Given the description of an element on the screen output the (x, y) to click on. 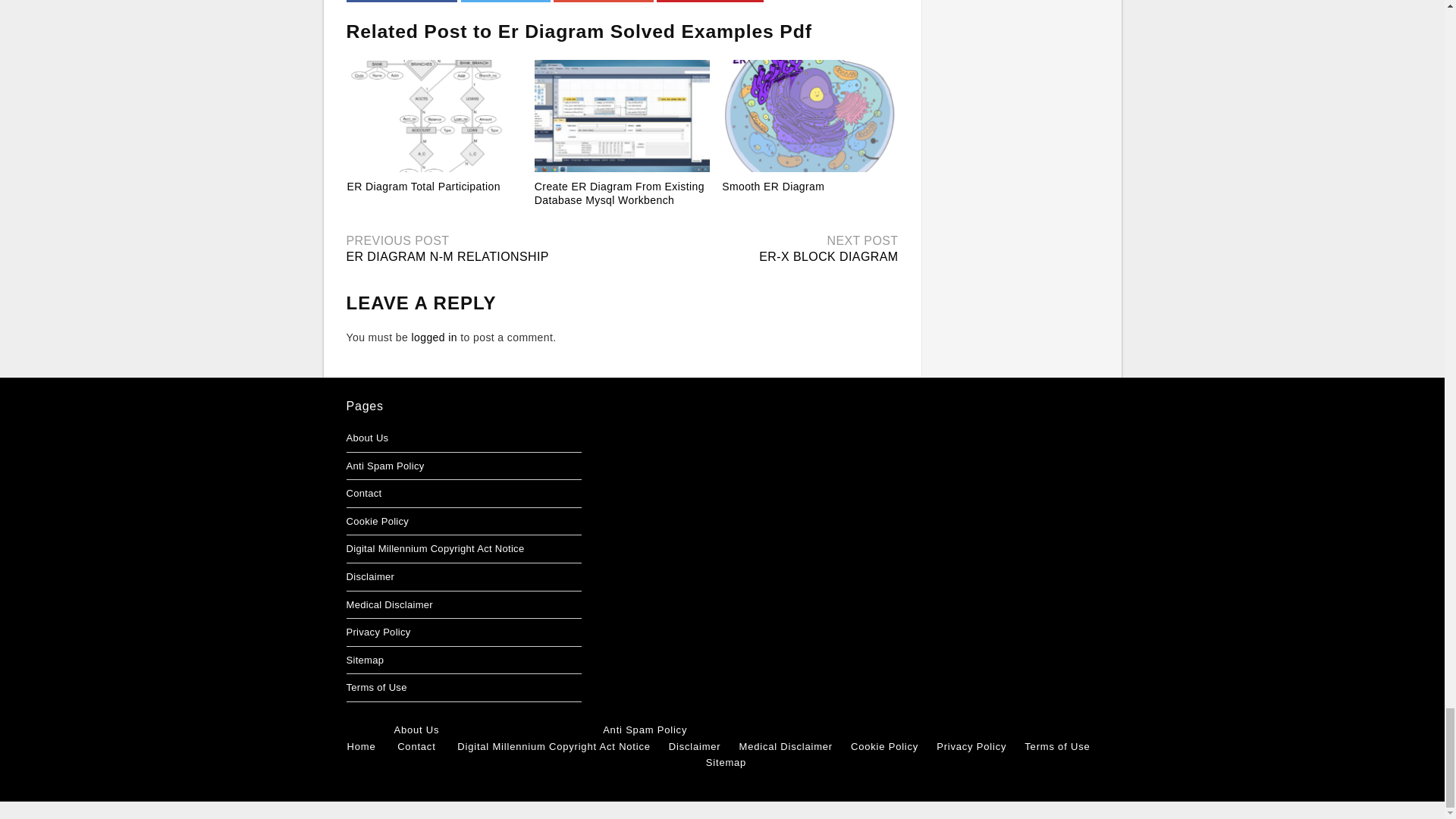
Pinterest (709, 1)
Smooth ER Diagram (773, 186)
Create ER Diagram From Existing Database Mysql Workbench (619, 193)
ER Diagram Total Participation (423, 186)
Twitter (505, 1)
ER DIAGRAM N-M RELATIONSHIP (447, 256)
logged in (434, 337)
Facebook (401, 1)
ER-X BLOCK DIAGRAM (828, 256)
